Given the description of an element on the screen output the (x, y) to click on. 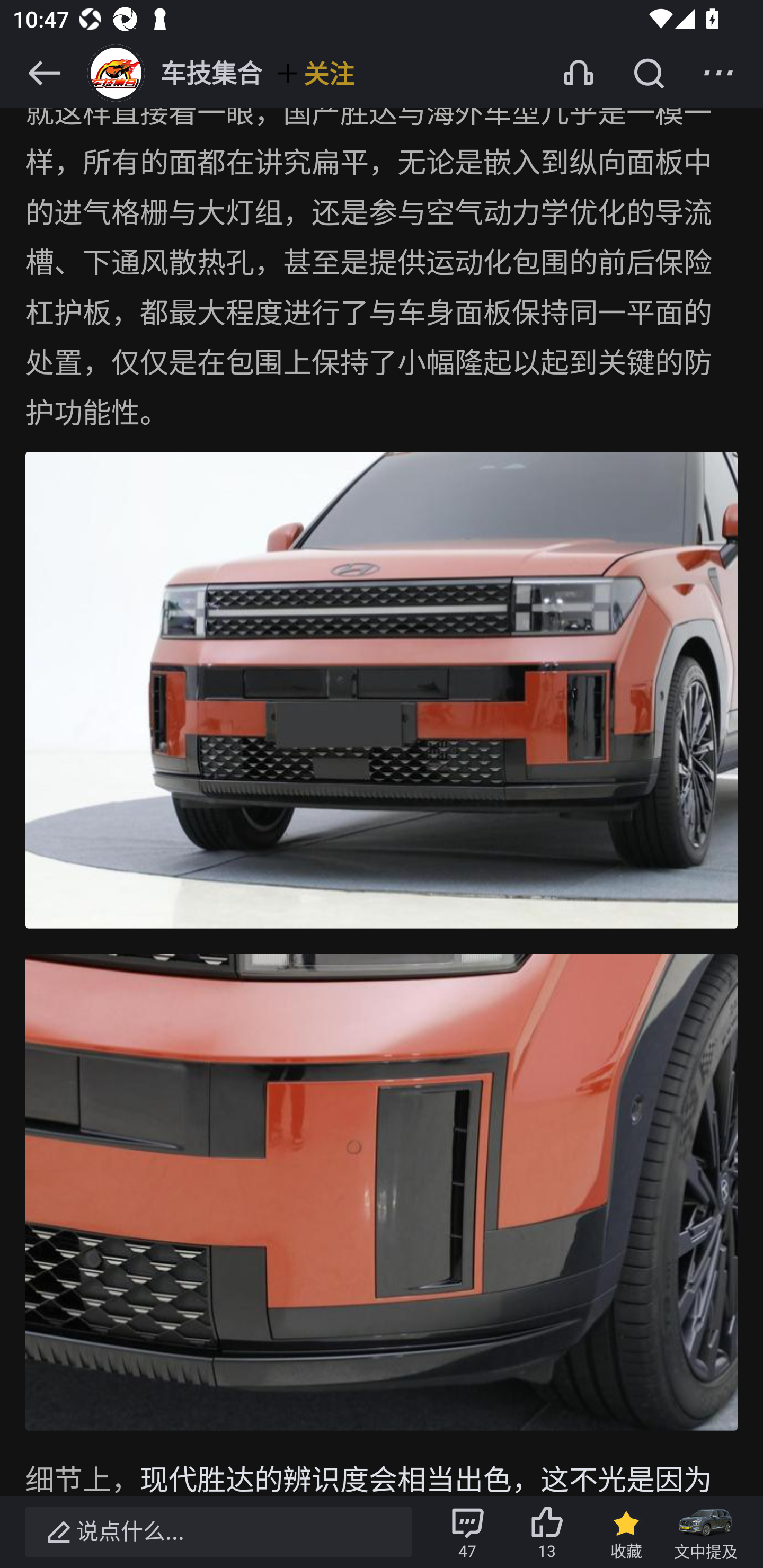
车技集合 (172, 72)
 (44, 72)
 (648, 72)
 (718, 72)
 关注 (314, 73)
nmFFGsPuVVfmjxNdkYq3-JwMuEs (381, 692)
PgUDn-oth7UH3Ydp7lgvt9LBOoA (381, 1193)
 47 (467, 1531)
13 (546, 1531)
收藏 (625, 1531)
文中提及 (705, 1531)
 说点什么... (218, 1531)
